Given the description of an element on the screen output the (x, y) to click on. 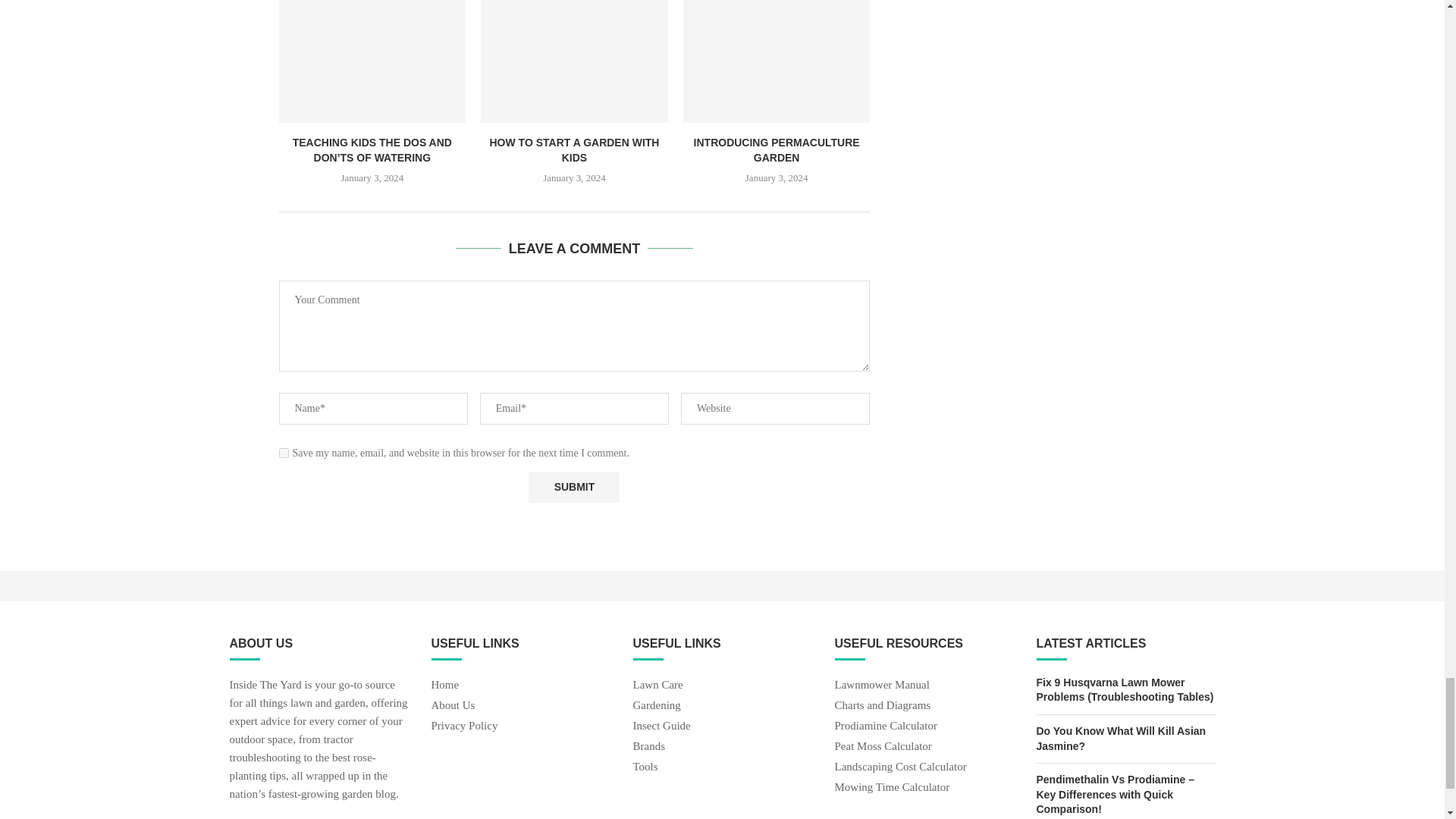
How To Start A Garden With Kids (574, 61)
Introducing Permaculture Garden (776, 61)
Submit (574, 486)
yes (283, 452)
